Given the description of an element on the screen output the (x, y) to click on. 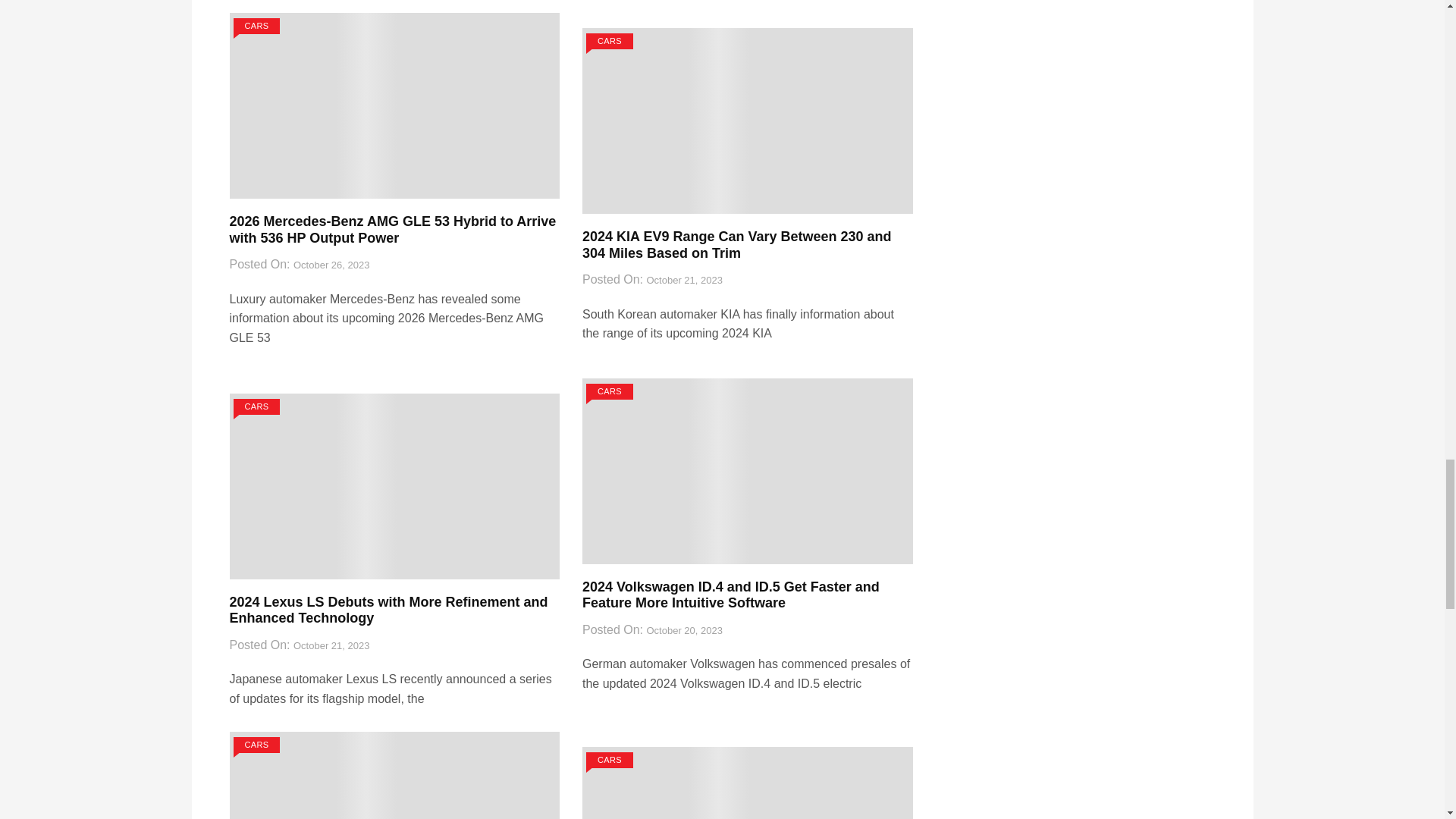
October 21, 2023 (684, 280)
October 26, 2023 (331, 265)
CARS (609, 41)
CARS (256, 26)
